Given the description of an element on the screen output the (x, y) to click on. 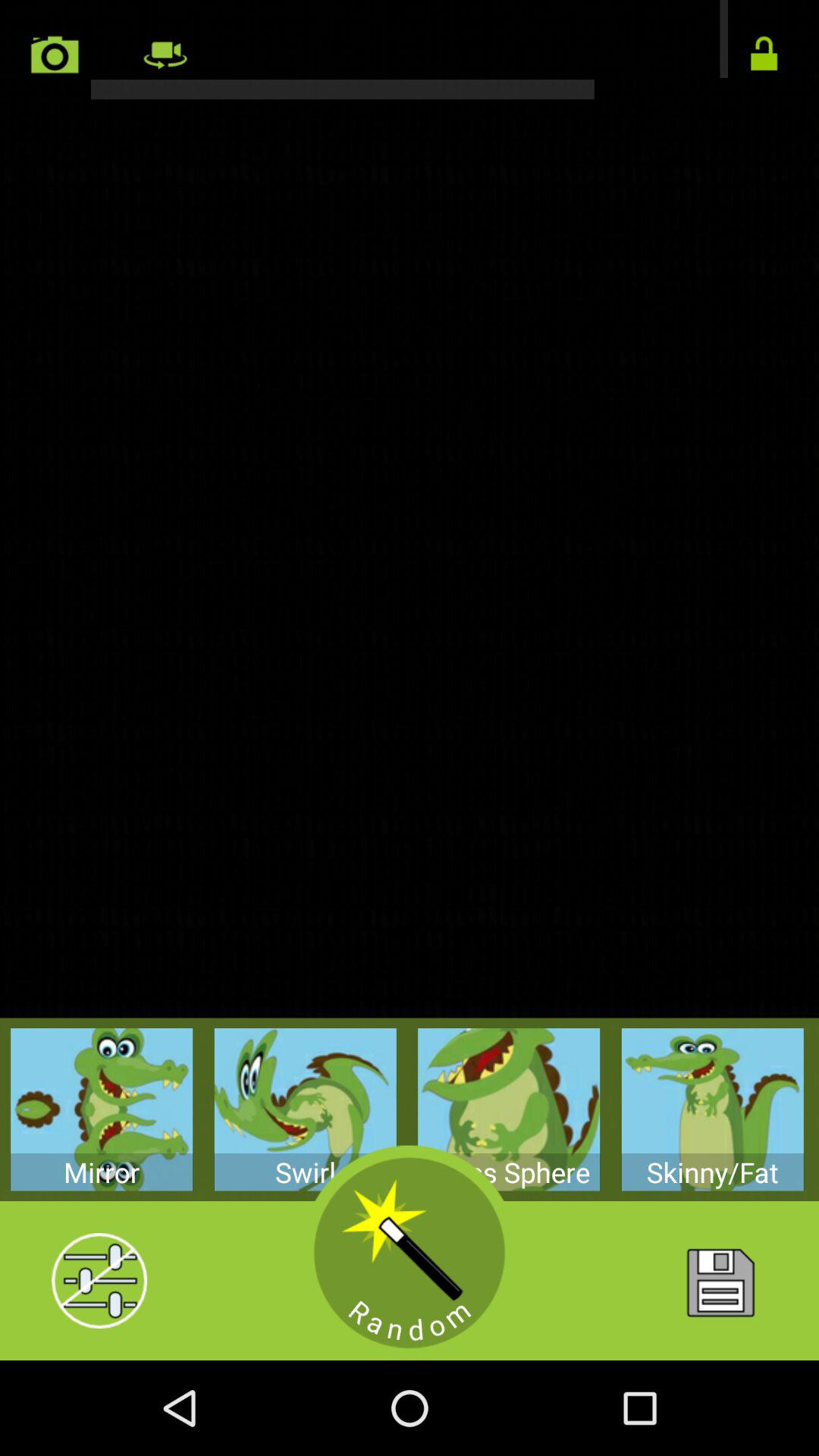
create random selection (409, 1252)
